Given the description of an element on the screen output the (x, y) to click on. 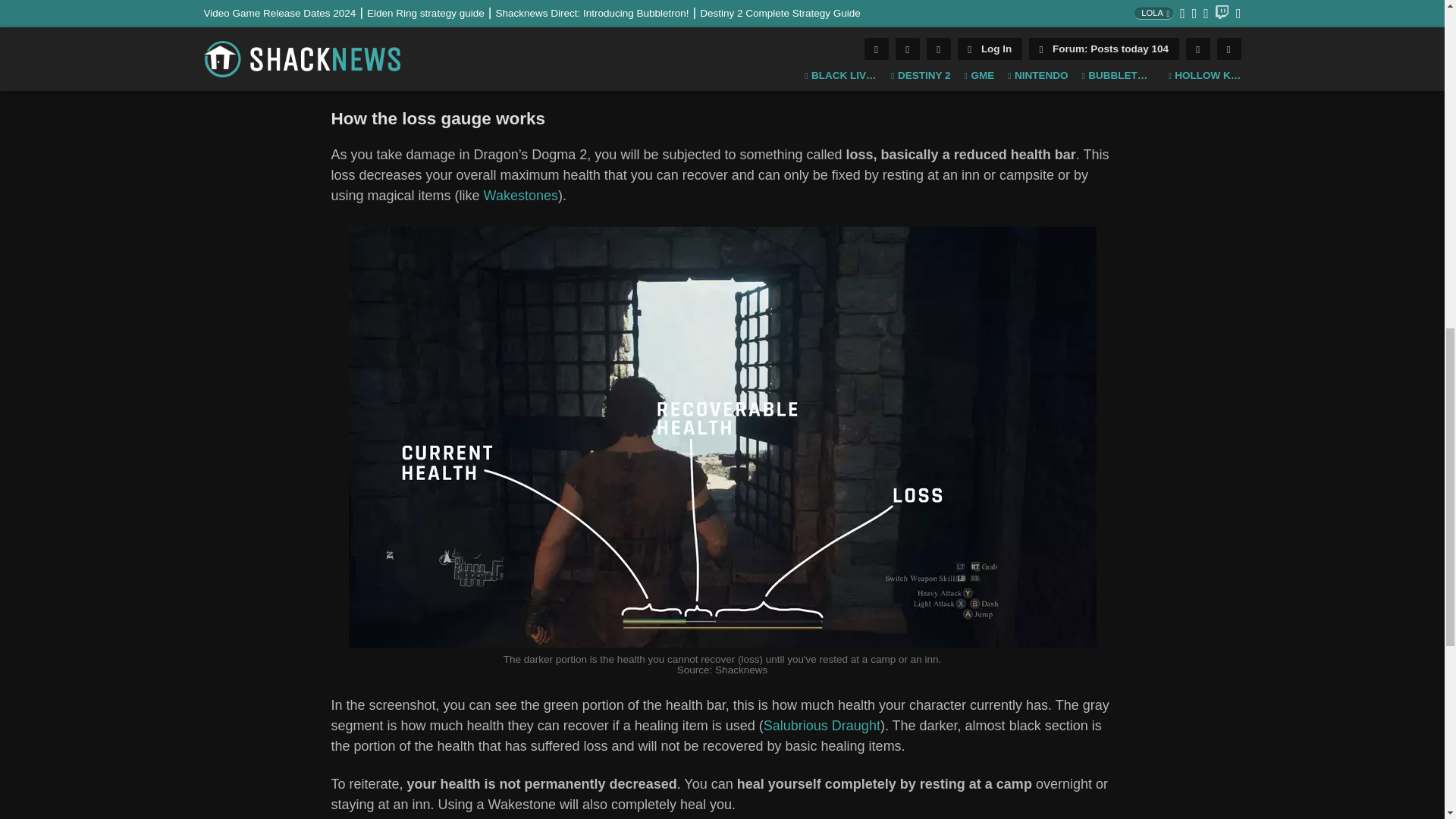
How to craft Salubrious Draught (821, 725)
Wakestones: Everything you need to know - Dragon's Dogma 2 (520, 195)
